Given the description of an element on the screen output the (x, y) to click on. 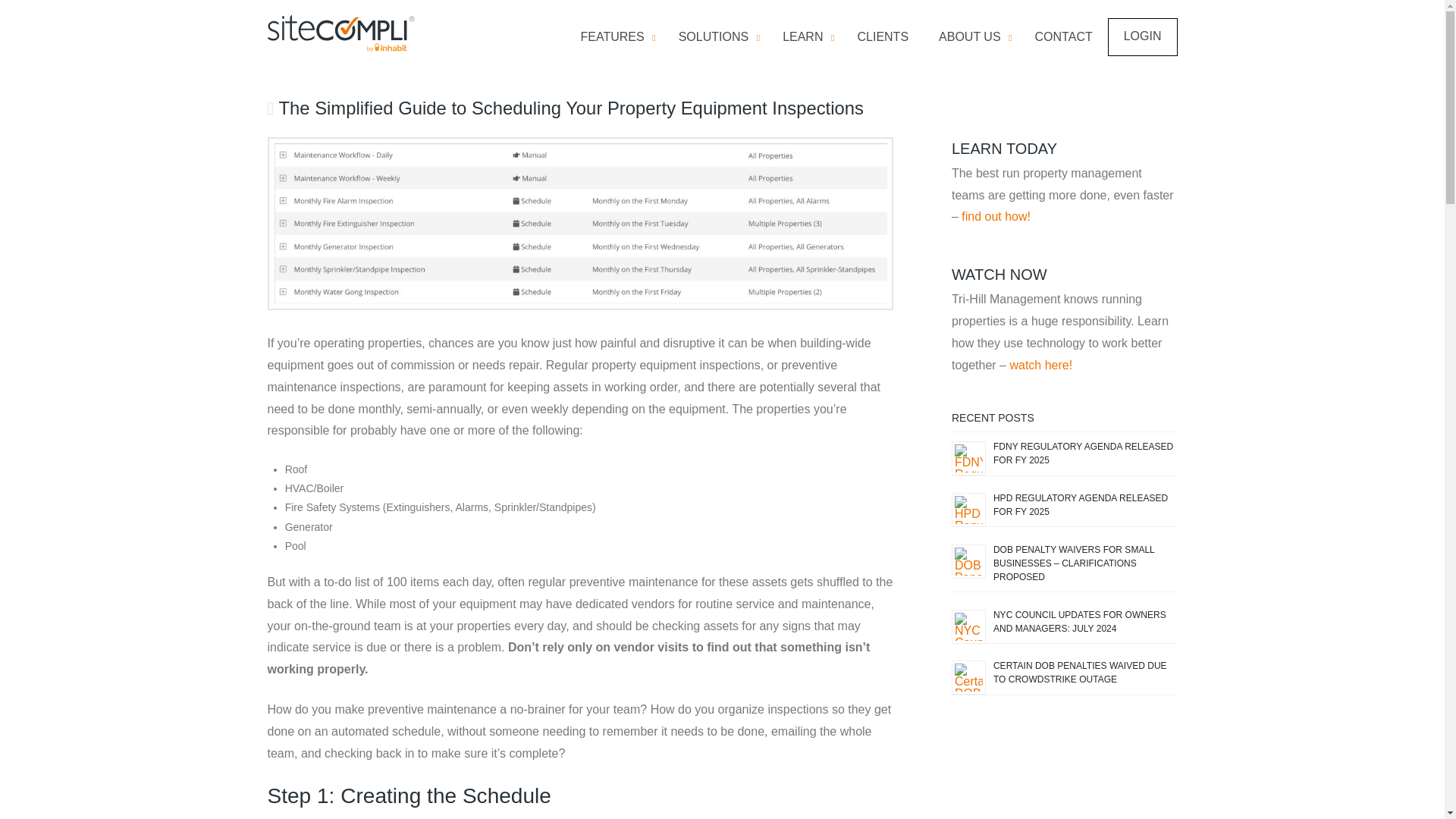
CLIENTS (882, 37)
ABOUT US (971, 37)
LOGIN (1142, 36)
CONTACT (1064, 37)
SOLUTIONS (871, 37)
LEARN (715, 37)
FEATURES (804, 37)
